Given the description of an element on the screen output the (x, y) to click on. 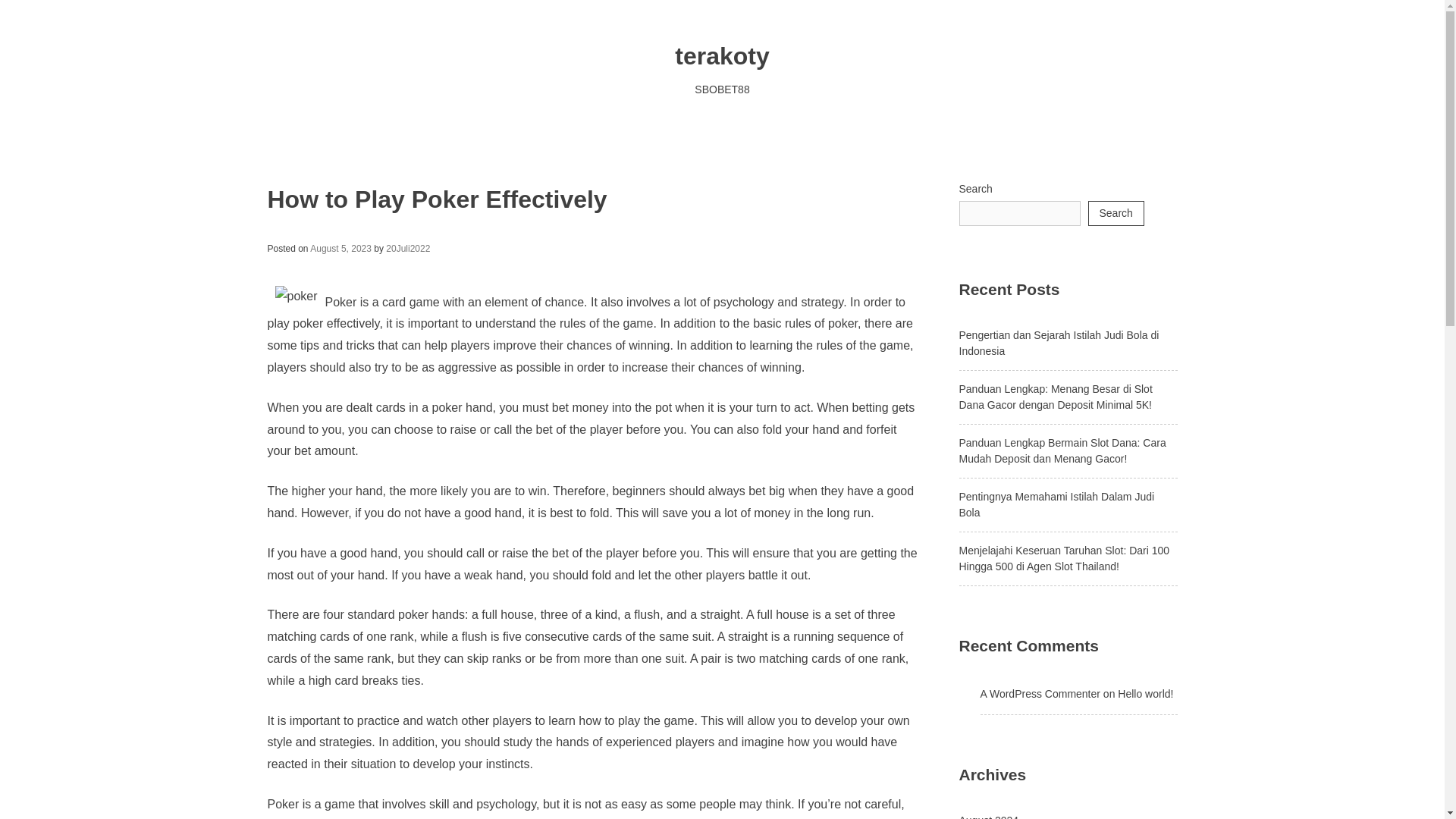
terakoty (722, 55)
20Juli2022 (407, 248)
A WordPress Commenter (1039, 693)
August 2024 (987, 816)
Pengertian dan Sejarah Istilah Judi Bola di Indonesia (1058, 343)
Hello world! (1145, 693)
August 5, 2023 (340, 248)
SBOBET88 (721, 89)
